Given the description of an element on the screen output the (x, y) to click on. 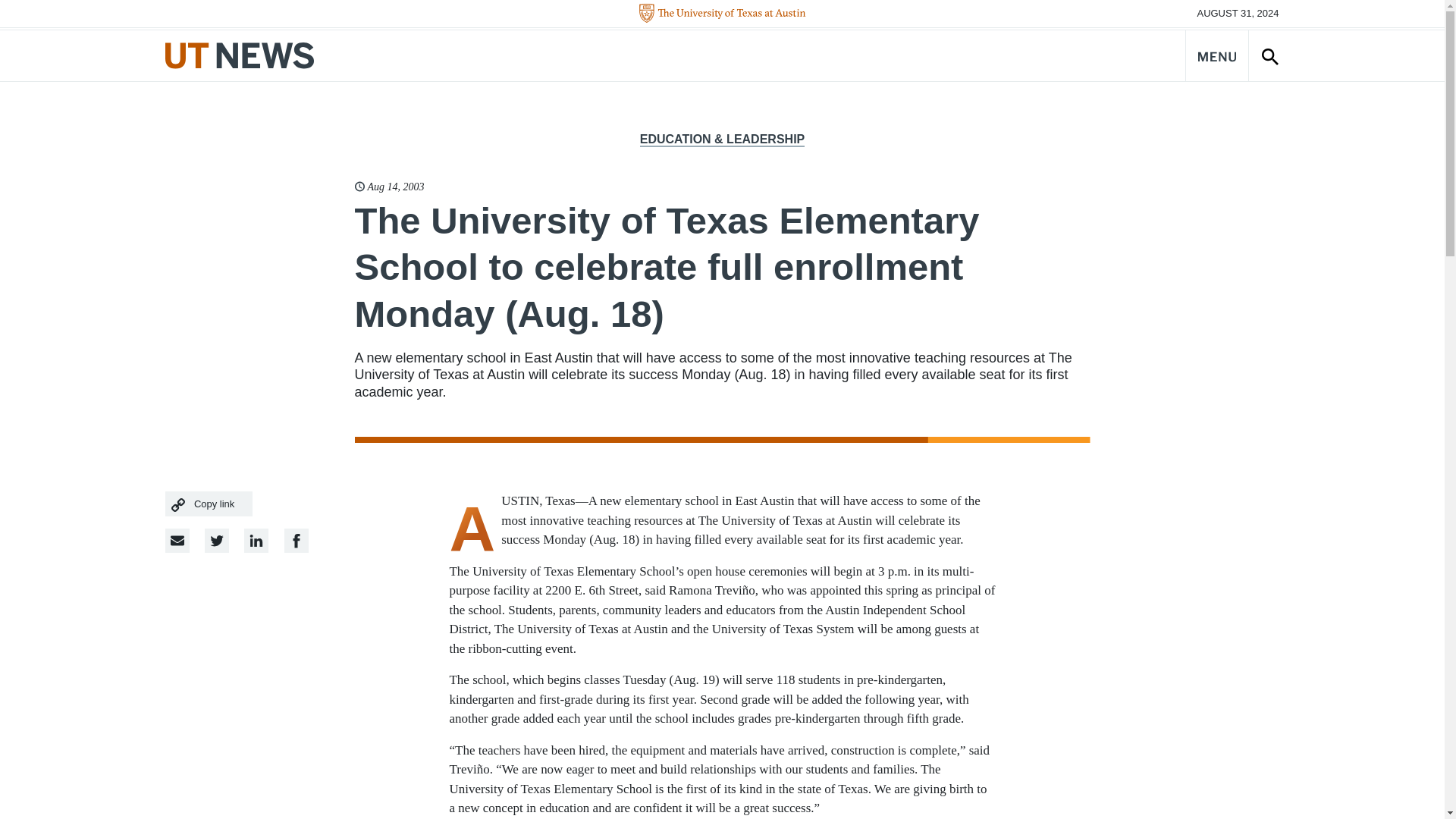
Email Share Link (177, 540)
Copy link (209, 503)
LinkedIn Share Link (295, 540)
The University of Texas at Austin (722, 13)
UT News (239, 55)
Facebook Share Link (255, 540)
Twitter Share Link (216, 540)
Navigation (1216, 55)
